Given the description of an element on the screen output the (x, y) to click on. 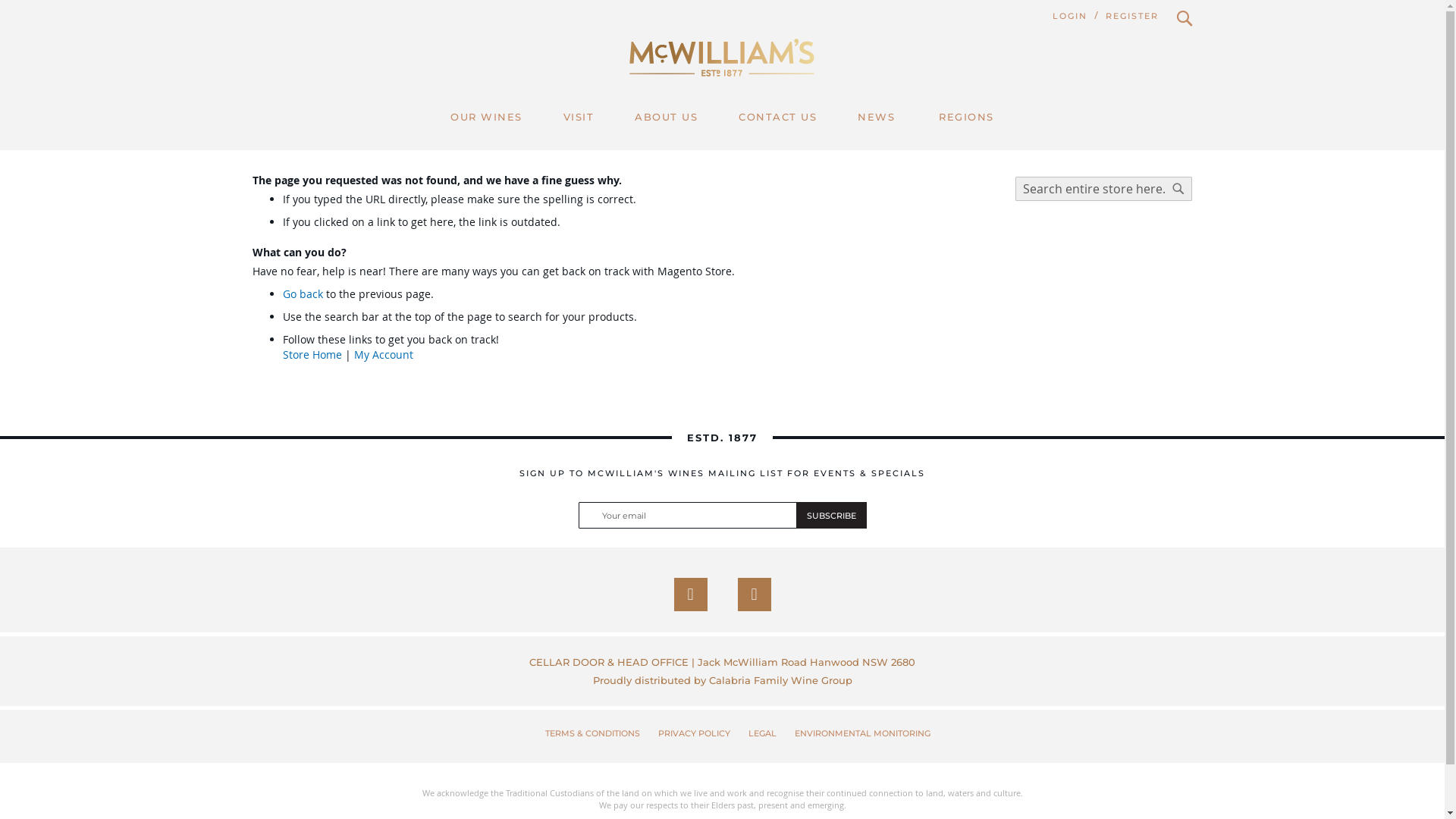
SUBSCRIBE Element type: text (831, 515)
LOGIN Element type: text (1069, 15)
LEGAL Element type: text (761, 734)
OUR WINES Element type: text (486, 116)
CONTACT US Element type: text (777, 116)
Search Element type: text (1178, 188)
Skip to Content Element type: text (251, 6)
ENVIRONMENTAL MONITORING Element type: text (862, 734)
My Account Element type: text (382, 354)
Follow on Instagram Element type: hover (753, 594)
Store Home Element type: text (311, 354)
Go back Element type: text (302, 293)
REGIONS Element type: text (966, 116)
PRIVACY POLICY Element type: text (694, 734)
Calabria Family Wine Group Element type: text (779, 680)
NEWS Element type: text (875, 116)
ABOUT US Element type: text (666, 116)
TERMS & CONDITIONS Element type: text (591, 734)
VISIT Element type: text (578, 116)
Follow on Facebook Element type: hover (689, 594)
REGISTER Element type: text (1131, 15)
